Given the description of an element on the screen output the (x, y) to click on. 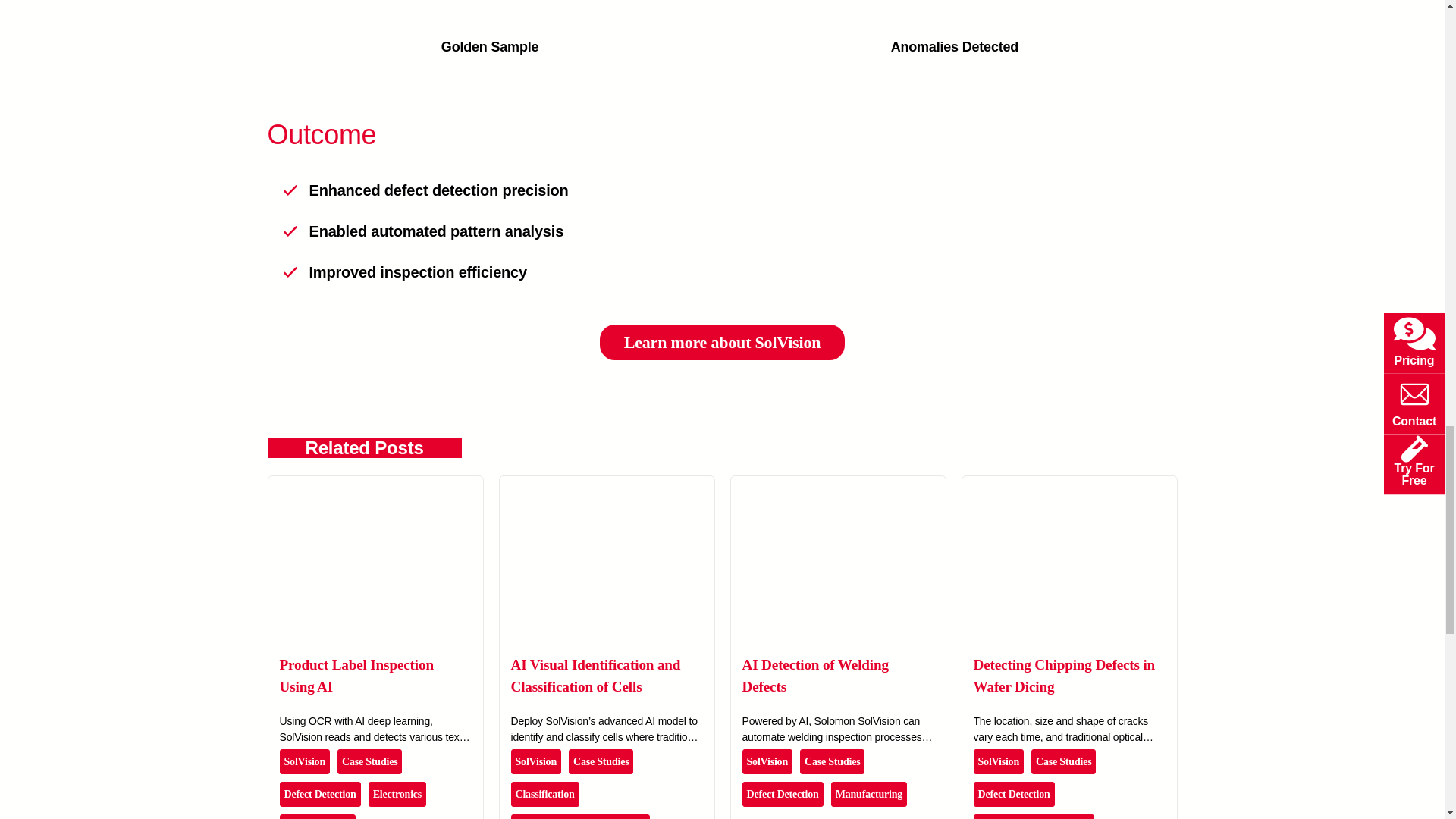
AI Visual Identification and Classification of Cells (606, 485)
Product Label Inspection Using AI (375, 485)
Learn more about SolVision (722, 342)
Detecting Chipping Defects in Wafer Dicing (1068, 485)
AI Detection of Welding Defects (837, 485)
